Given the description of an element on the screen output the (x, y) to click on. 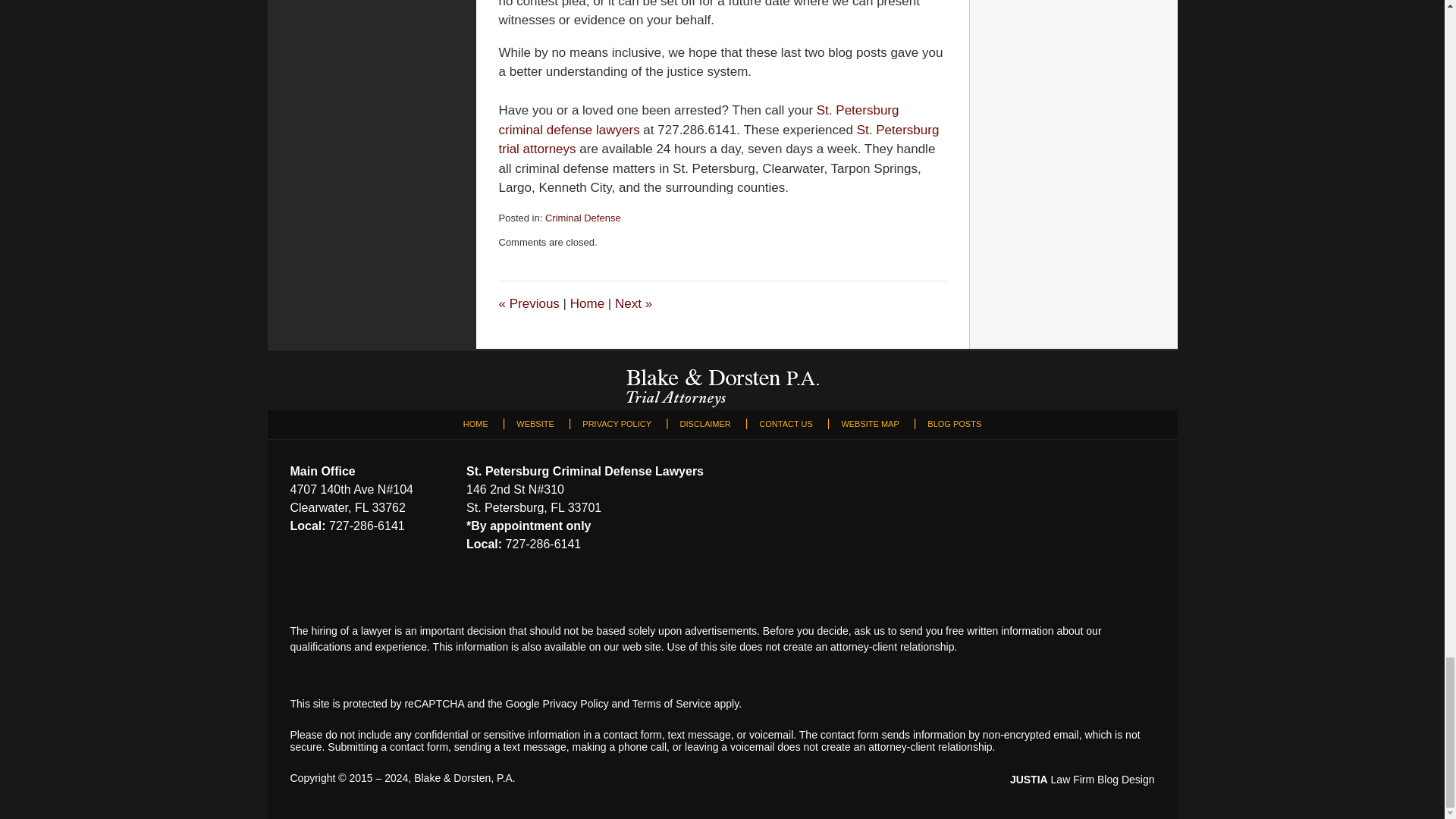
View all posts in Criminal Defense (582, 217)
Habitual Traffic Offender?  Call us immediately! (633, 303)
St. Petersburg criminal defense lawyers (699, 120)
What you need to know about your Florida DUI (529, 303)
Home (587, 303)
St. Petersburg trial attorneys (719, 139)
Criminal Defense (582, 217)
